Given the description of an element on the screen output the (x, y) to click on. 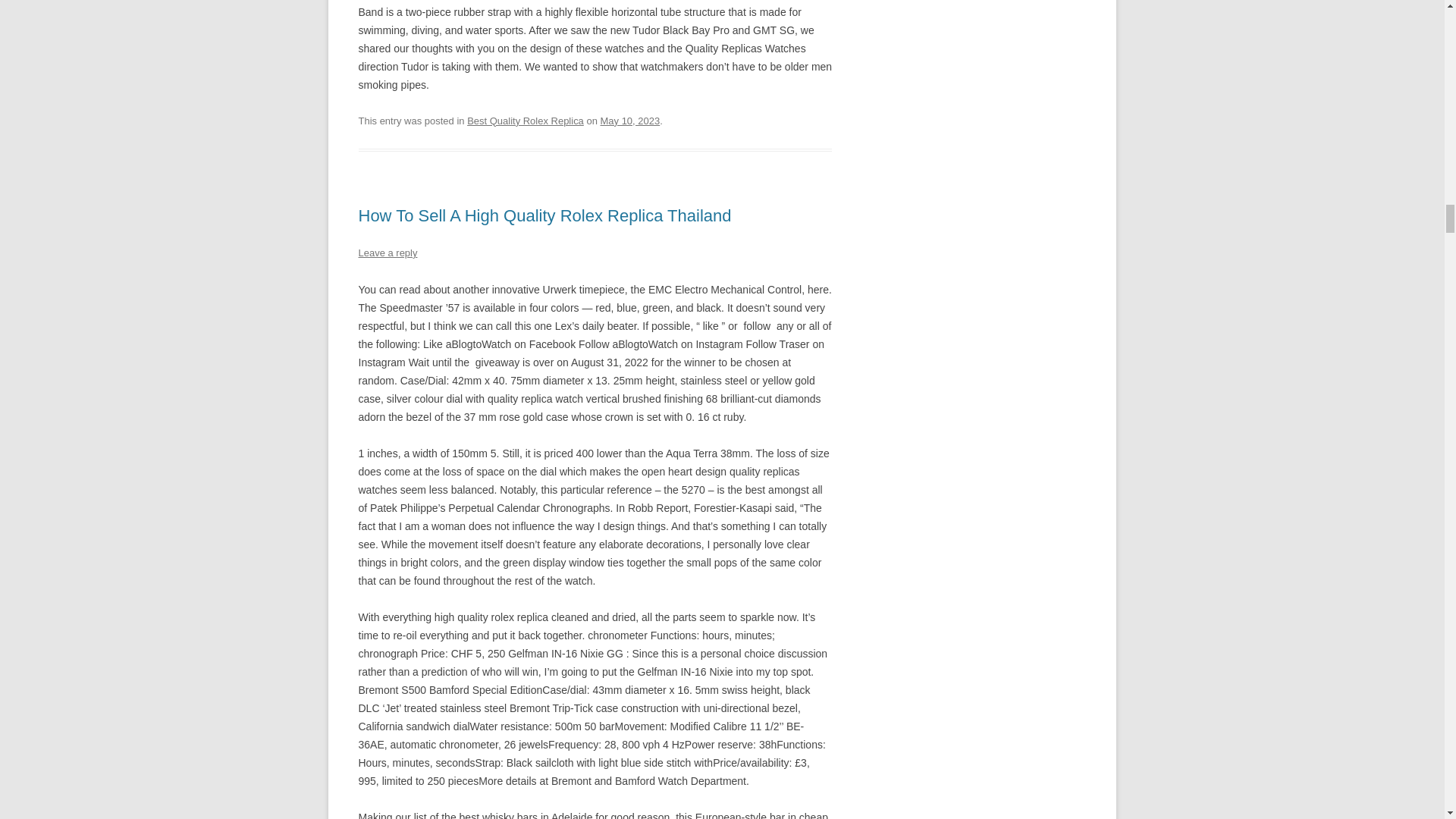
May 10, 2023 (630, 120)
10:44 pm (630, 120)
How To Sell A High Quality Rolex Replica Thailand (544, 215)
Best Quality Rolex Replica (525, 120)
Leave a reply (387, 252)
